Given the description of an element on the screen output the (x, y) to click on. 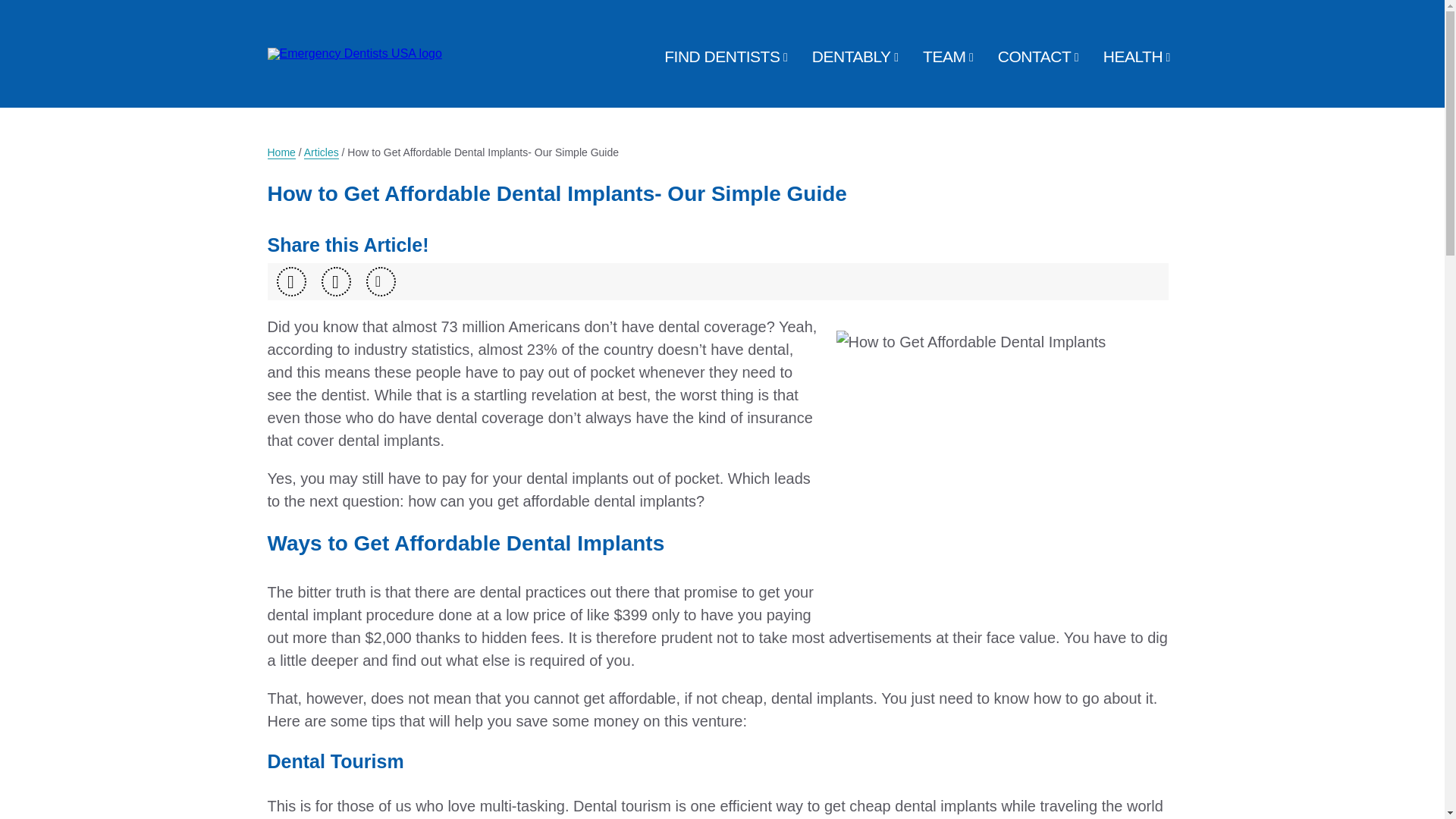
FIND DENTISTS (720, 56)
Emergency Dentists USA (353, 6)
DENTABLY (851, 56)
CONTACT (1033, 56)
TEAM (944, 56)
